Given the description of an element on the screen output the (x, y) to click on. 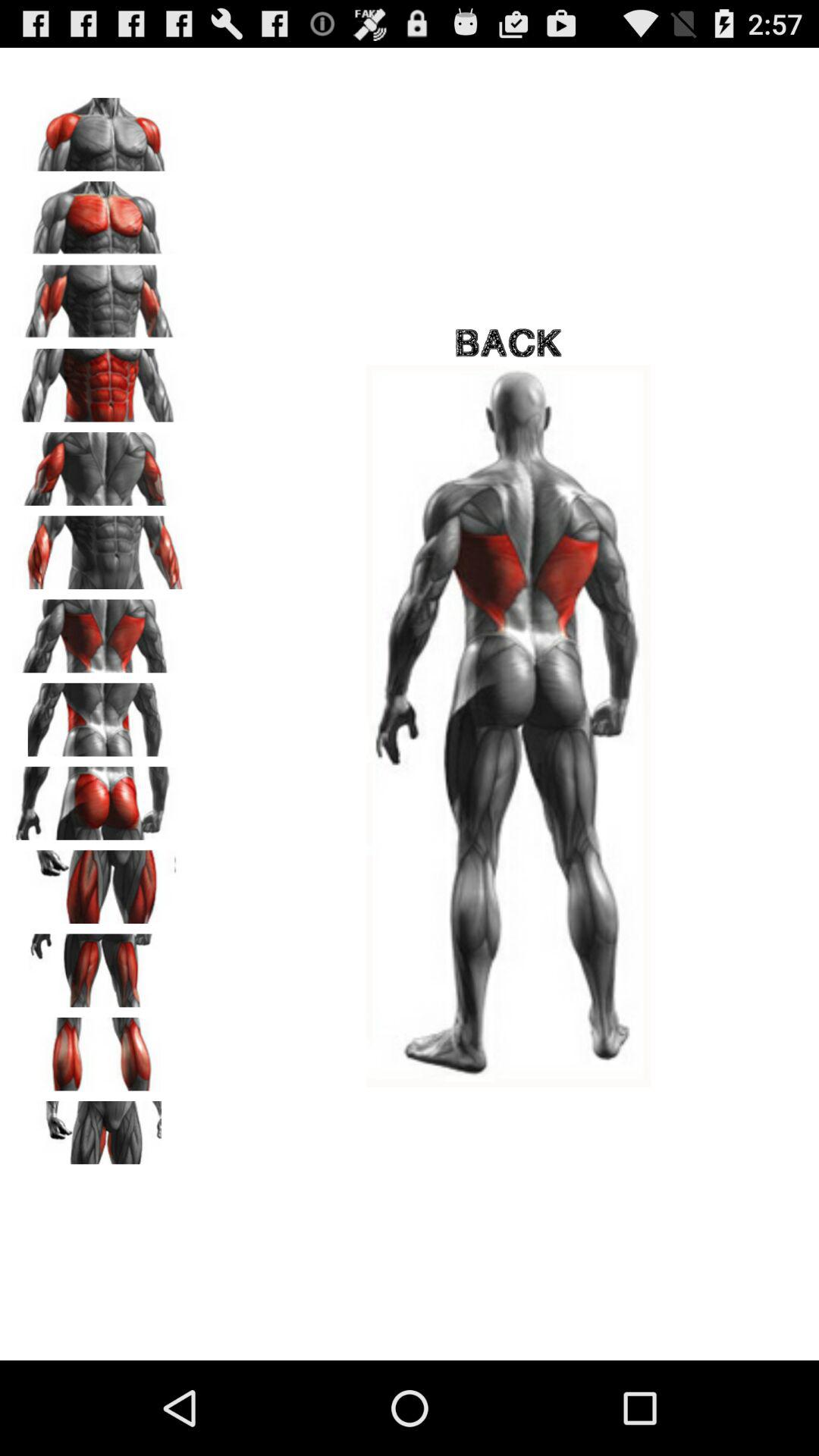
picture (99, 965)
